Given the description of an element on the screen output the (x, y) to click on. 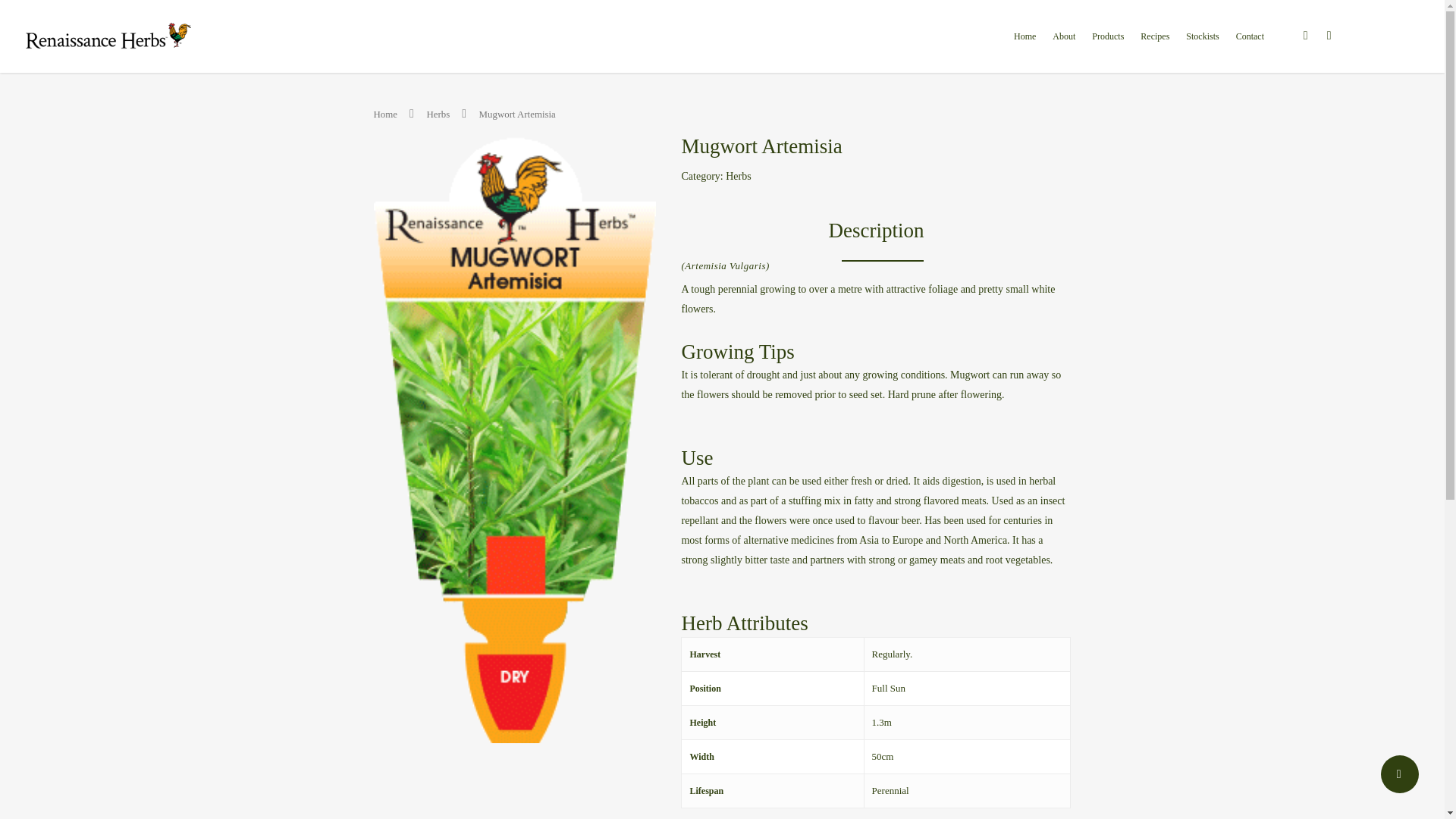
Products (1107, 46)
Home (384, 113)
Stockists (1201, 46)
Herbs (738, 175)
Herbs (437, 113)
